Given the description of an element on the screen output the (x, y) to click on. 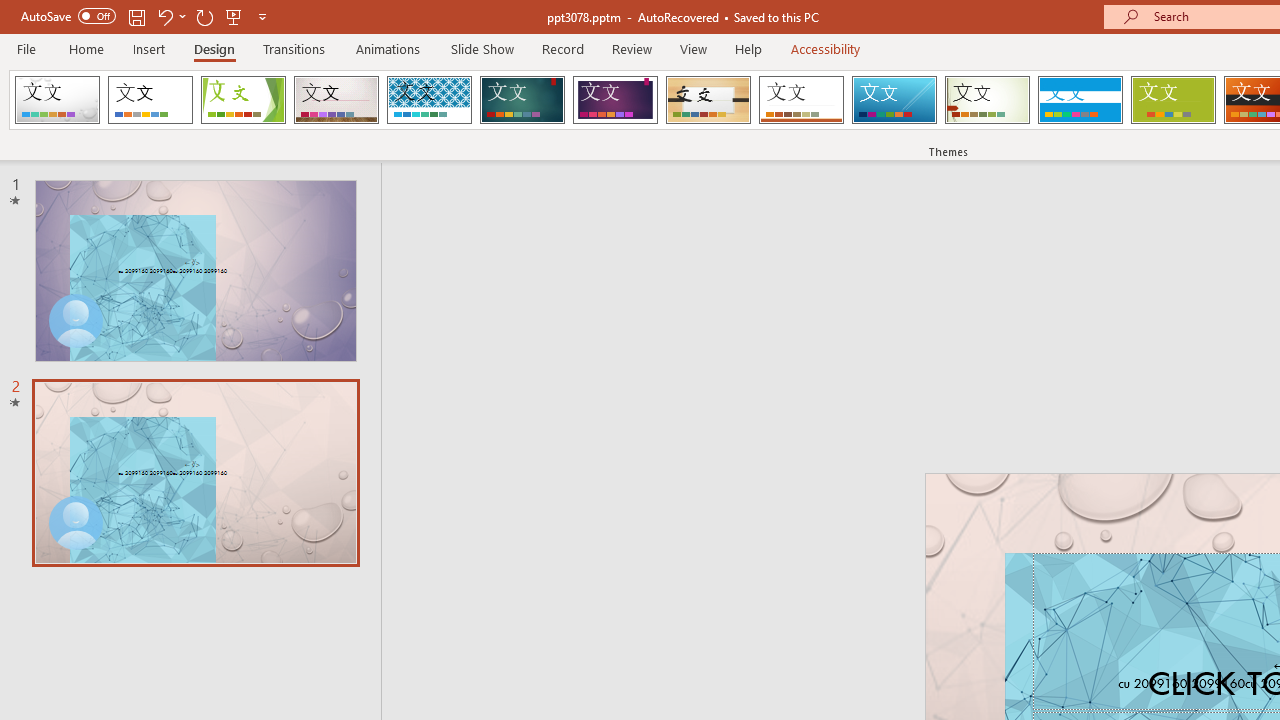
Organic (708, 100)
Integral (429, 100)
Gallery (336, 100)
